Given the description of an element on the screen output the (x, y) to click on. 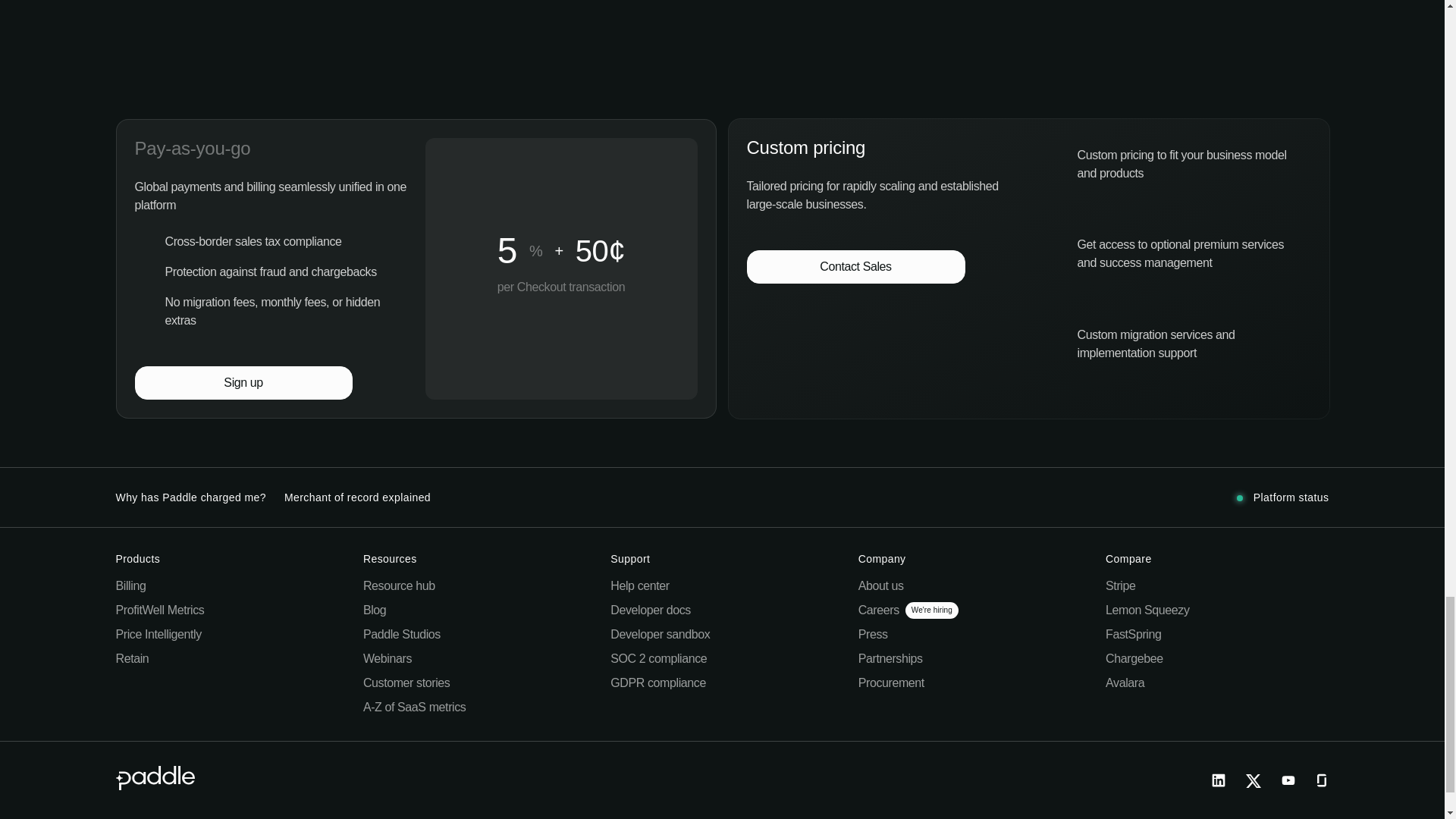
Twitter (1252, 781)
LinkedIn (1217, 780)
YouTube (1287, 780)
Glassdoor (1320, 780)
